Given the description of an element on the screen output the (x, y) to click on. 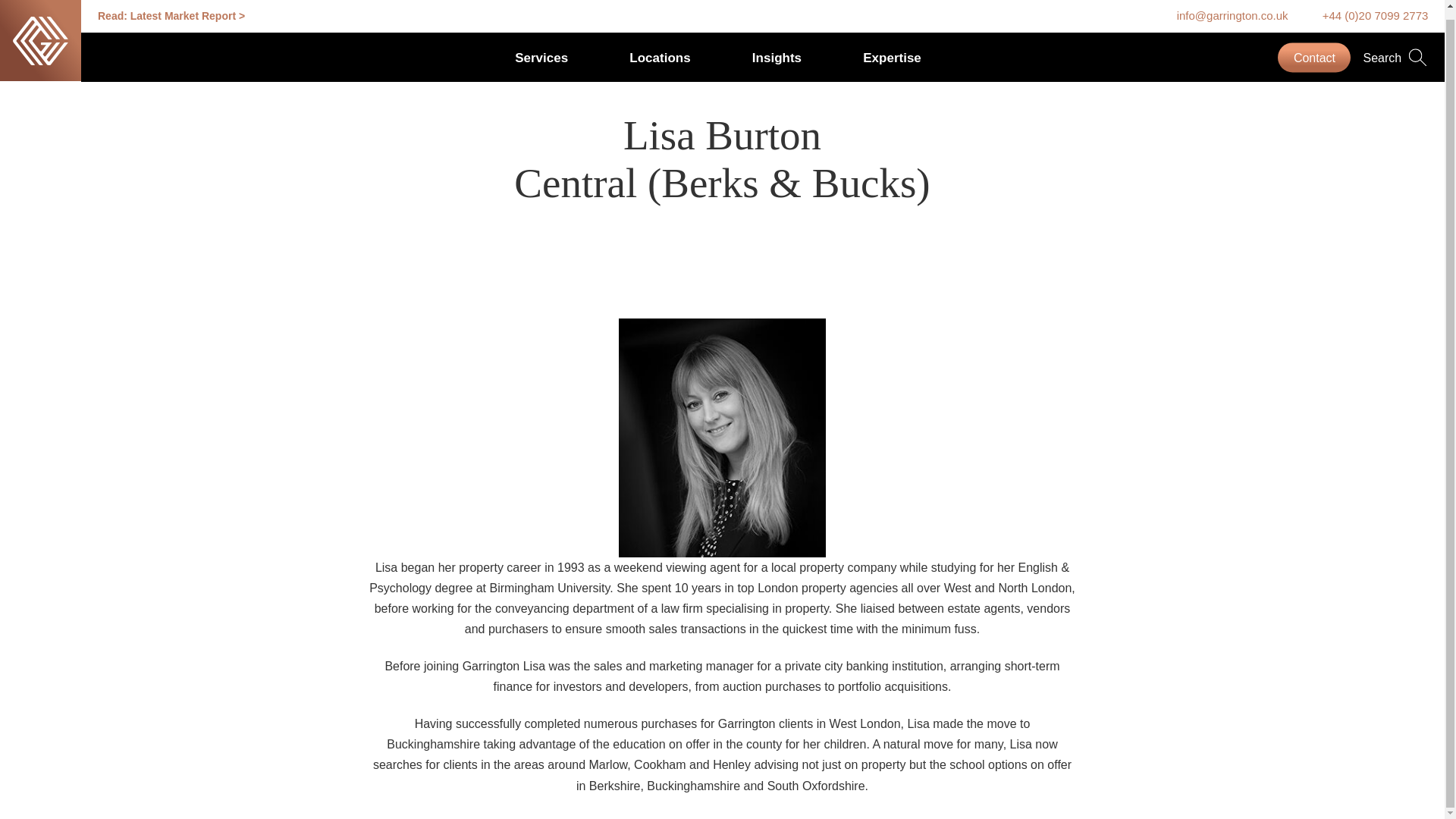
Services (541, 49)
Locations (659, 49)
